Given the description of an element on the screen output the (x, y) to click on. 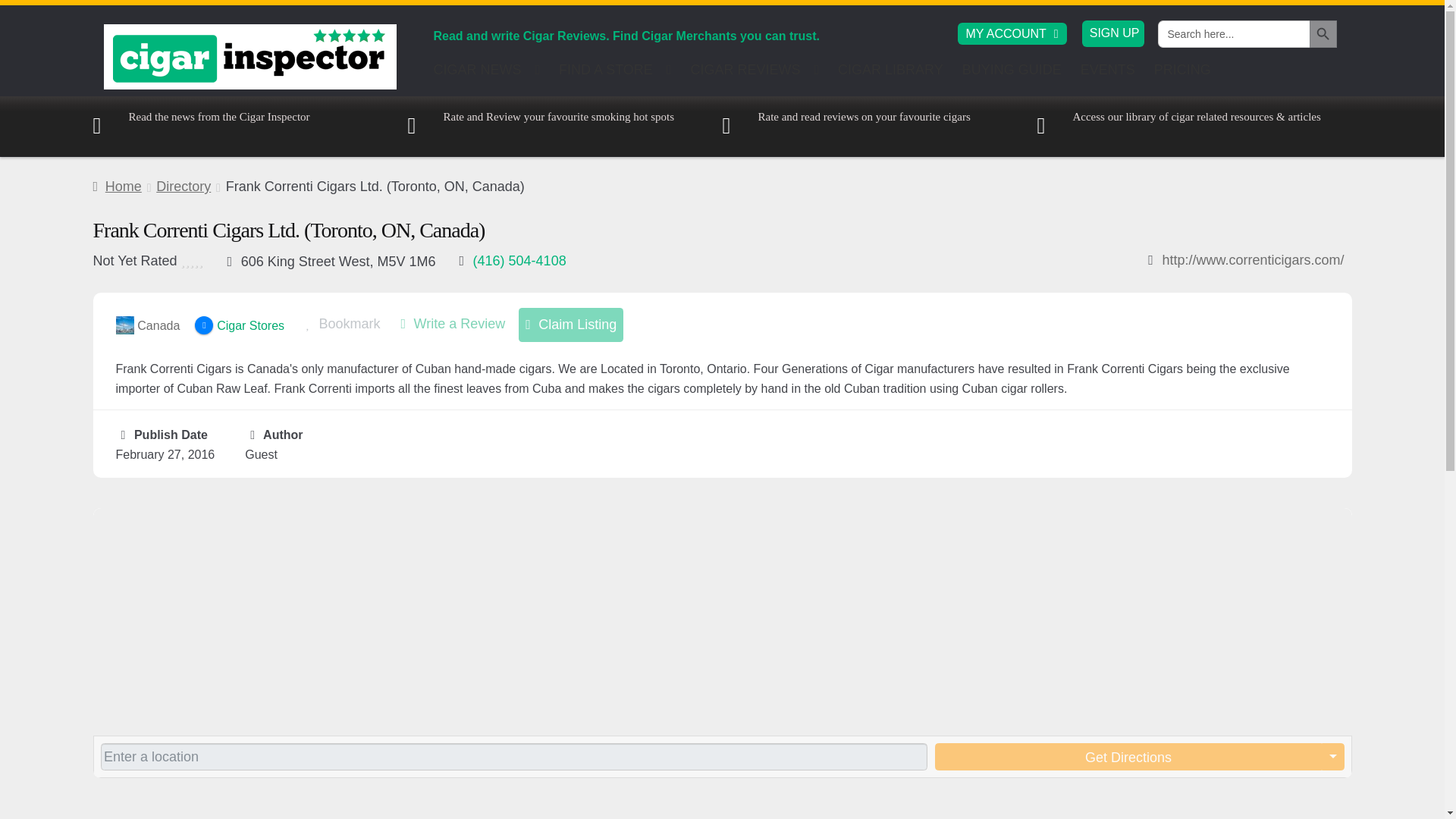
MY ACCOUNT (1011, 33)
CIGAR LIBRARY (889, 73)
Rate and read reviews on your favourite cigars (845, 125)
Read the news from the Cigar Inspector (200, 125)
Home (117, 186)
SIGN UP (1114, 32)
CIGAR NEWS (487, 73)
Search Button (1322, 33)
EVENTS (1107, 73)
Canada (147, 324)
